Given the description of an element on the screen output the (x, y) to click on. 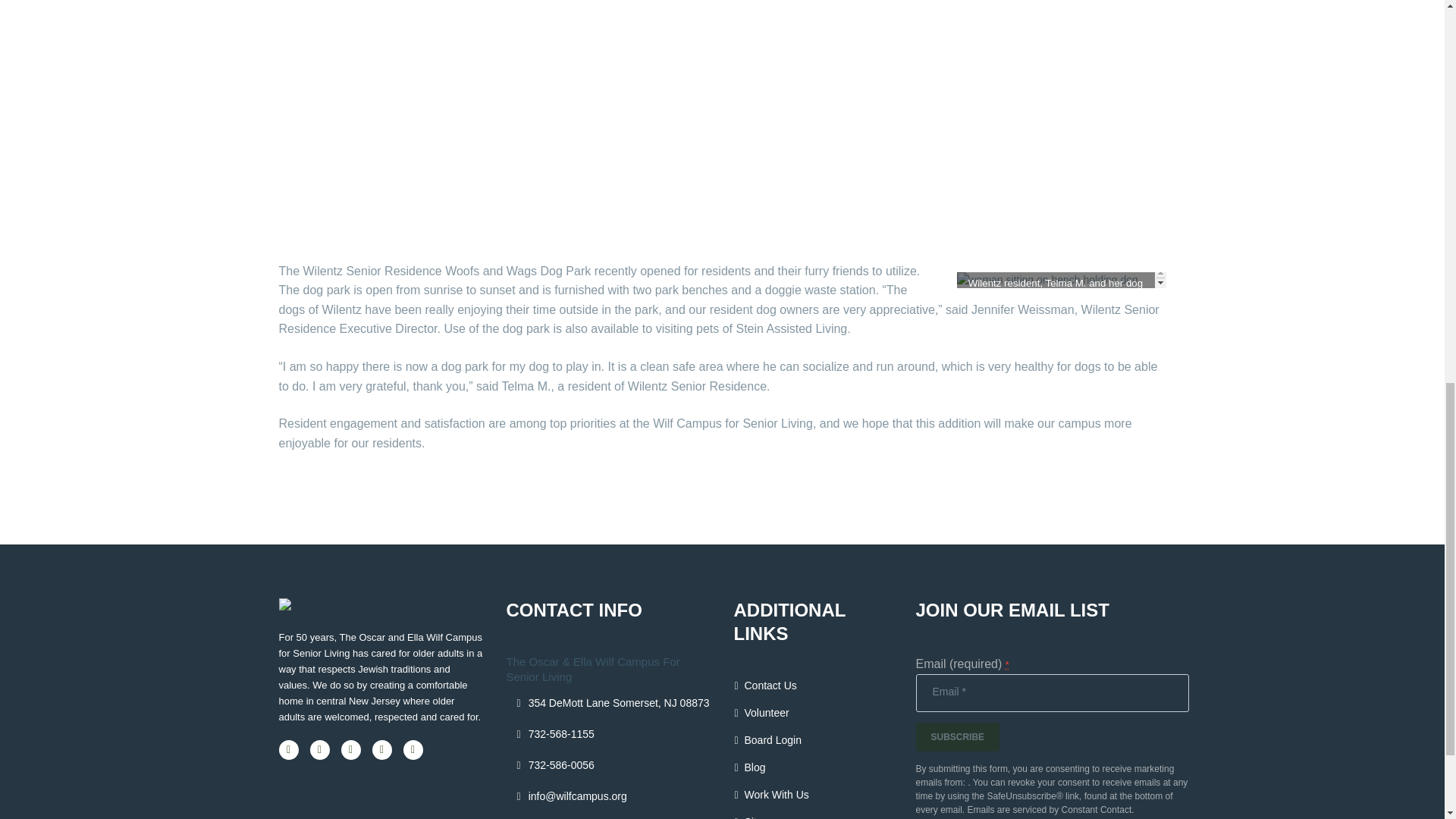
Subscribe (957, 736)
